Given the description of an element on the screen output the (x, y) to click on. 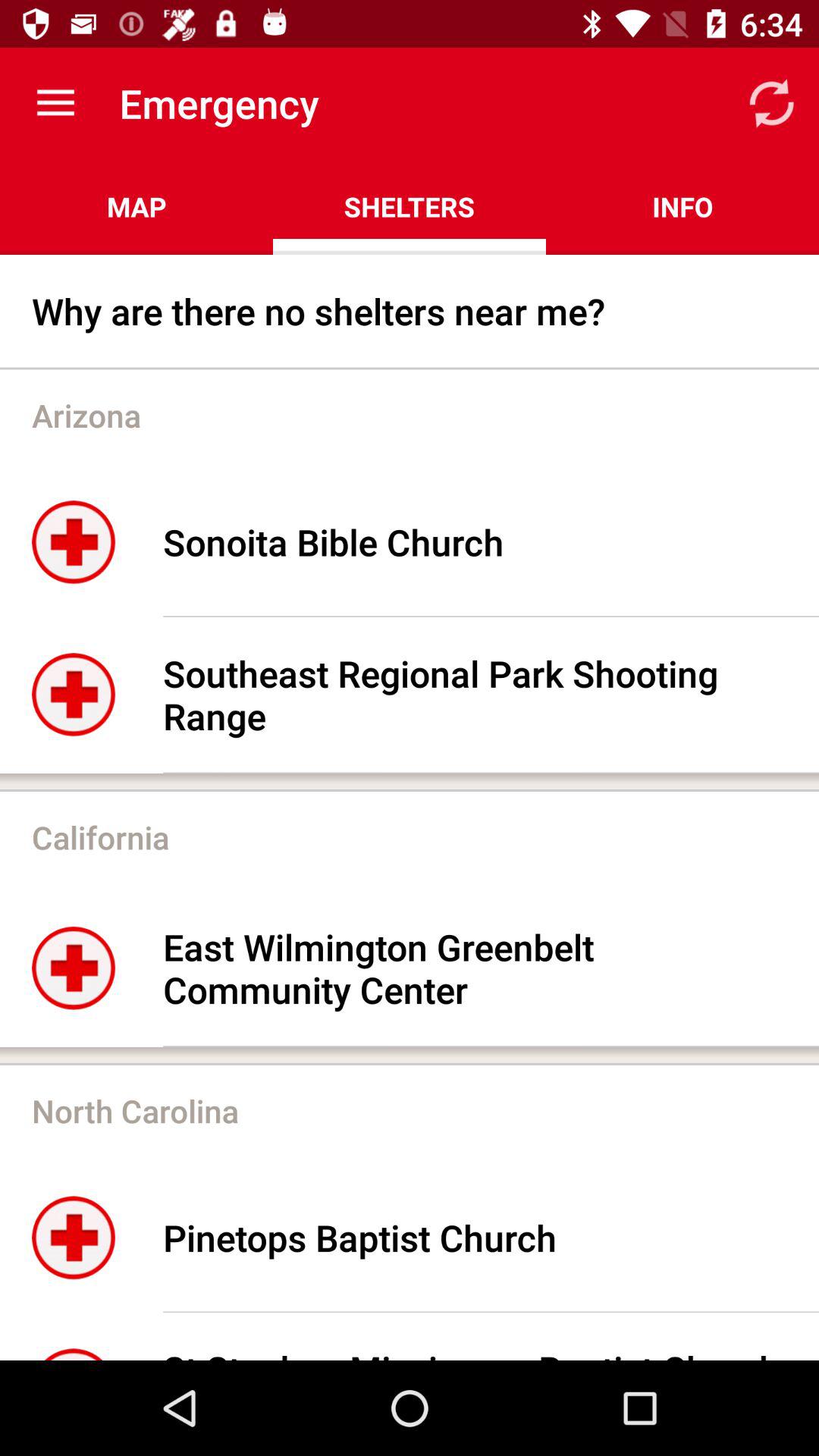
swipe to map (136, 206)
